Given the description of an element on the screen output the (x, y) to click on. 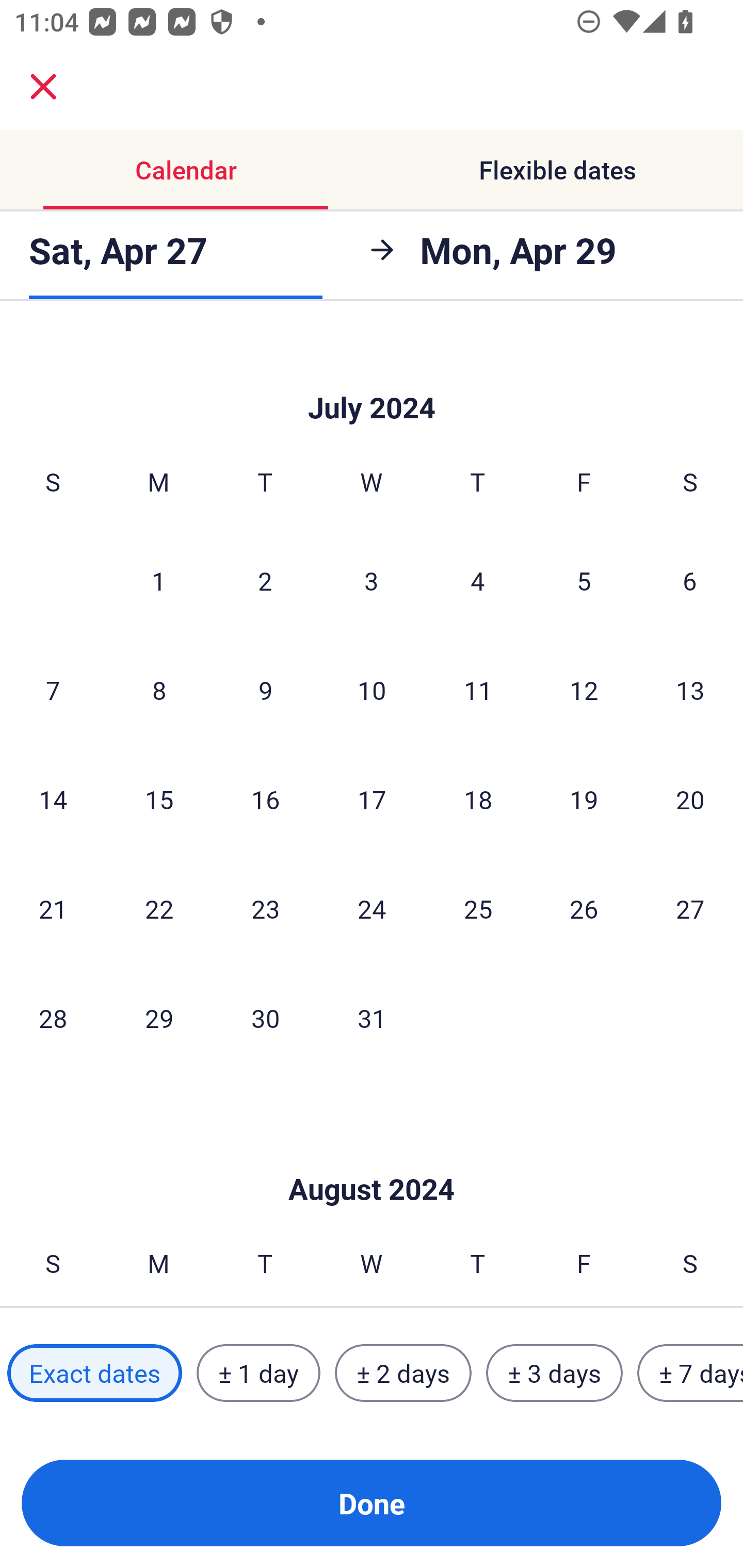
close. (43, 86)
Flexible dates (557, 170)
Skip to Done (371, 376)
1 Monday, July 1, 2024 (158, 580)
2 Tuesday, July 2, 2024 (264, 580)
3 Wednesday, July 3, 2024 (371, 580)
4 Thursday, July 4, 2024 (477, 580)
5 Friday, July 5, 2024 (583, 580)
6 Saturday, July 6, 2024 (689, 580)
7 Sunday, July 7, 2024 (53, 689)
8 Monday, July 8, 2024 (159, 689)
9 Tuesday, July 9, 2024 (265, 689)
10 Wednesday, July 10, 2024 (371, 689)
11 Thursday, July 11, 2024 (477, 689)
12 Friday, July 12, 2024 (584, 689)
13 Saturday, July 13, 2024 (690, 689)
14 Sunday, July 14, 2024 (53, 798)
15 Monday, July 15, 2024 (159, 798)
16 Tuesday, July 16, 2024 (265, 798)
17 Wednesday, July 17, 2024 (371, 798)
18 Thursday, July 18, 2024 (477, 798)
19 Friday, July 19, 2024 (584, 798)
20 Saturday, July 20, 2024 (690, 798)
21 Sunday, July 21, 2024 (53, 908)
22 Monday, July 22, 2024 (159, 908)
23 Tuesday, July 23, 2024 (265, 908)
24 Wednesday, July 24, 2024 (371, 908)
25 Thursday, July 25, 2024 (477, 908)
26 Friday, July 26, 2024 (584, 908)
27 Saturday, July 27, 2024 (690, 908)
28 Sunday, July 28, 2024 (53, 1017)
29 Monday, July 29, 2024 (159, 1017)
30 Tuesday, July 30, 2024 (265, 1017)
31 Wednesday, July 31, 2024 (371, 1017)
Skip to Done (371, 1157)
Exact dates (94, 1372)
± 1 day (258, 1372)
± 2 days (403, 1372)
± 3 days (553, 1372)
± 7 days (690, 1372)
Done (371, 1502)
